Given the description of an element on the screen output the (x, y) to click on. 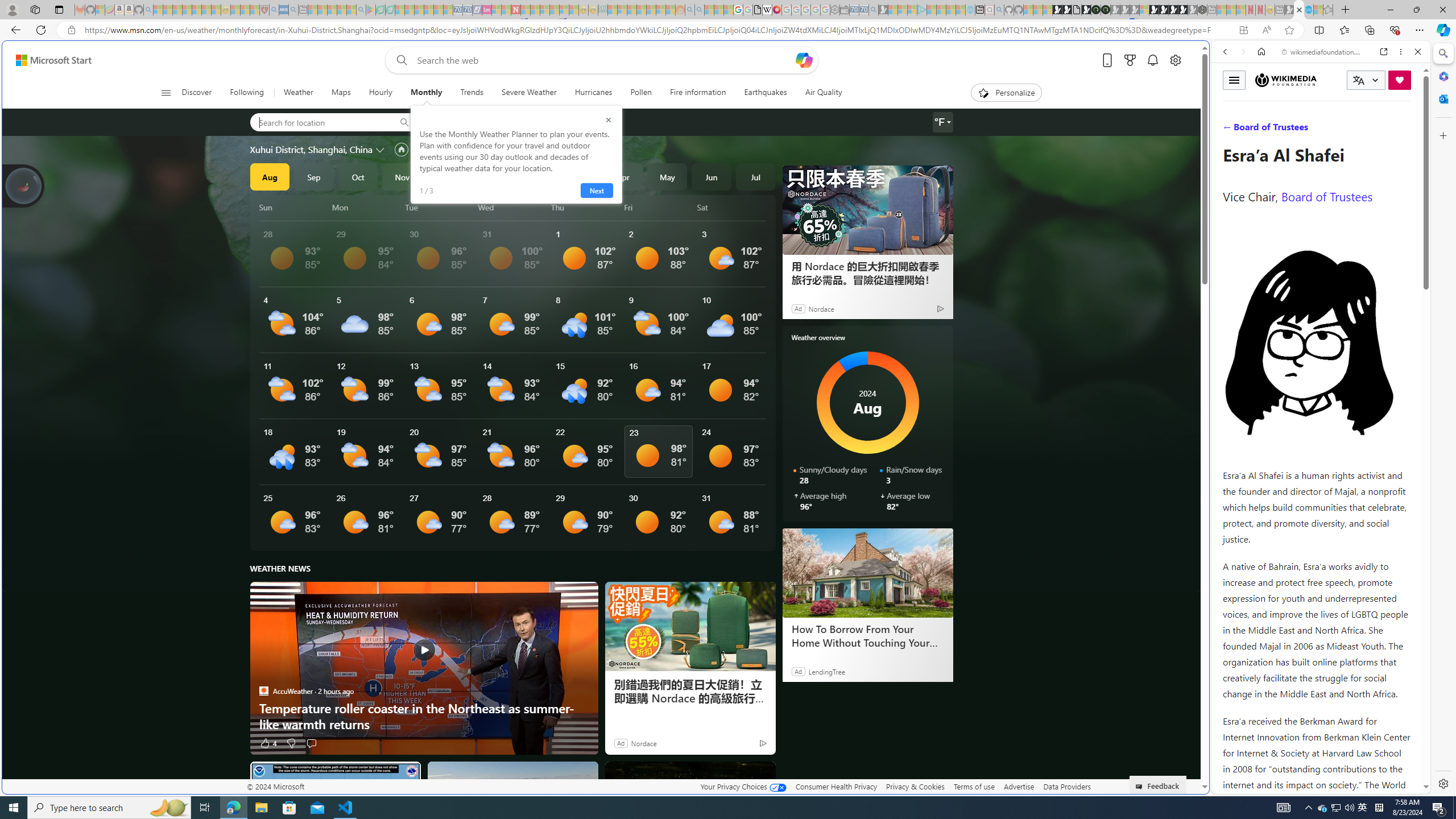
utah sues federal government - Search - Sleeping (292, 9)
Sun (294, 207)
Fire information (698, 92)
Your Privacy Choices (743, 786)
